Given the description of an element on the screen output the (x, y) to click on. 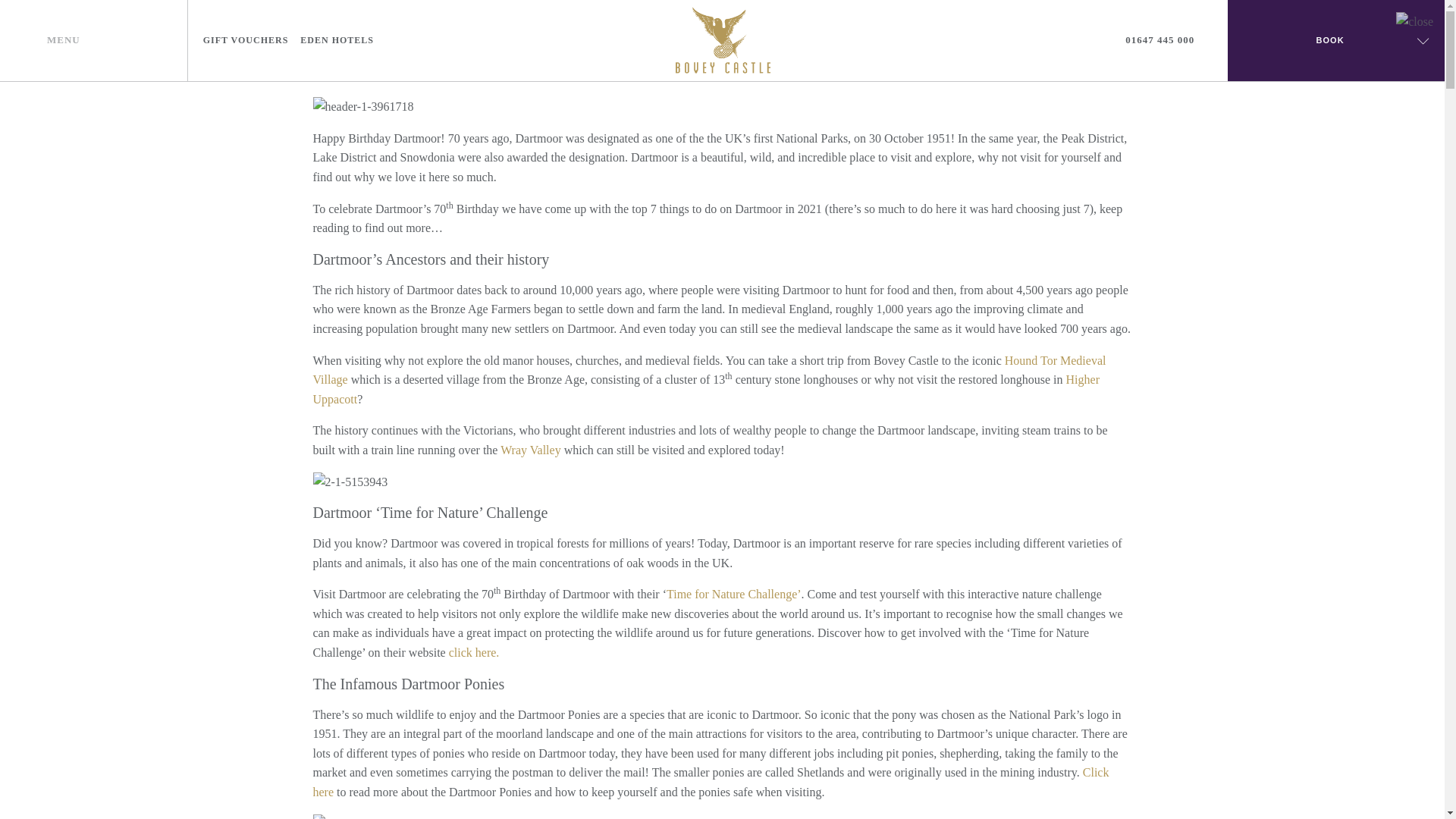
Click here (710, 781)
MENU (92, 40)
01647 445 000 (1168, 40)
EDEN HOTELS (336, 40)
Hound Tor Medieval Village (709, 369)
Higher Uppacott (706, 389)
click here. (473, 652)
Wray Valley (530, 449)
GIFT VOUCHERS (245, 40)
